Given the description of an element on the screen output the (x, y) to click on. 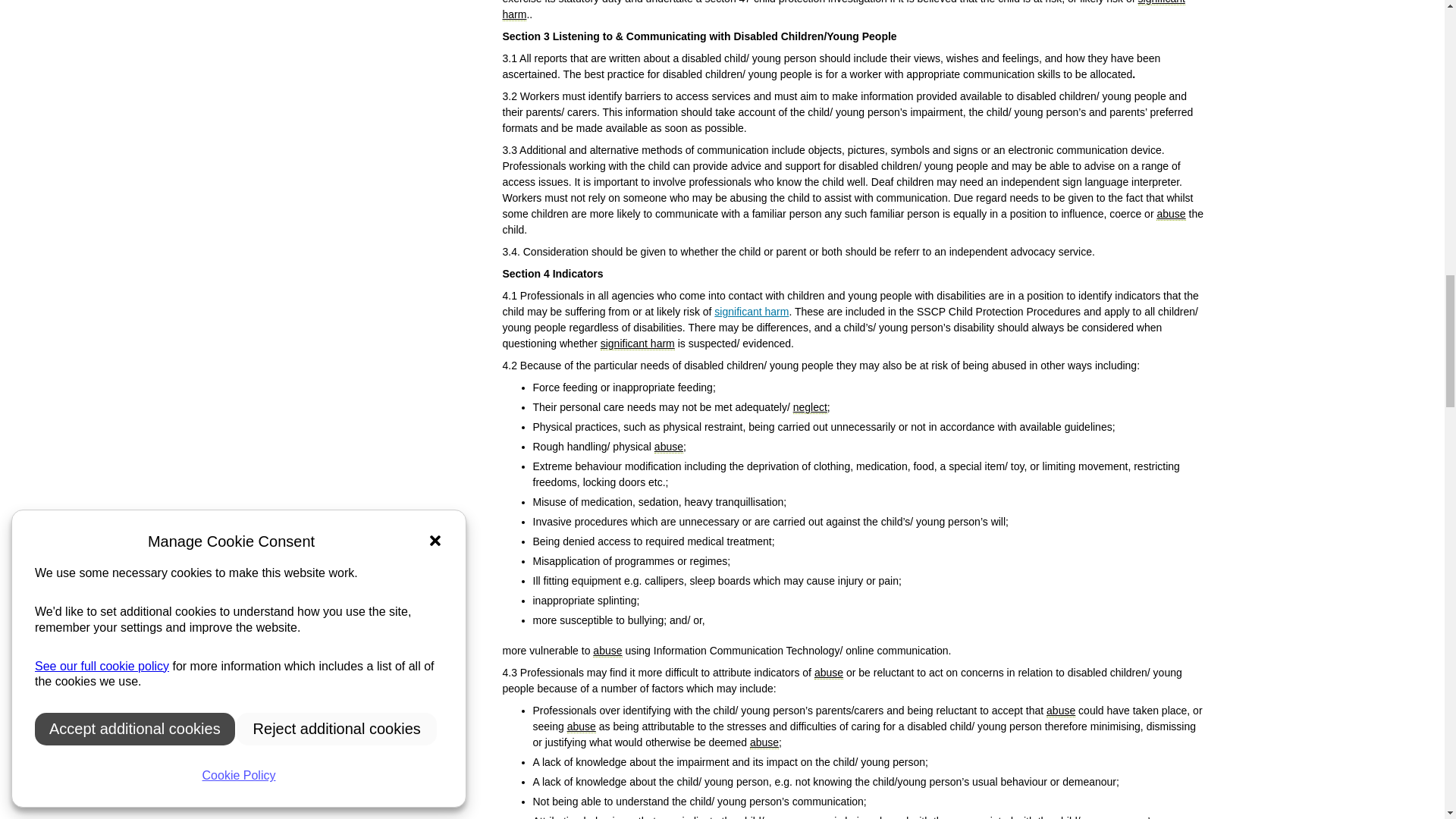
abuse (1170, 214)
significant harm (637, 343)
abuse (828, 672)
neglect (810, 407)
significant harm (843, 10)
abuse (1060, 710)
significant harm (751, 311)
abuse (763, 742)
abuse (667, 446)
abuse (606, 650)
